Given the description of an element on the screen output the (x, y) to click on. 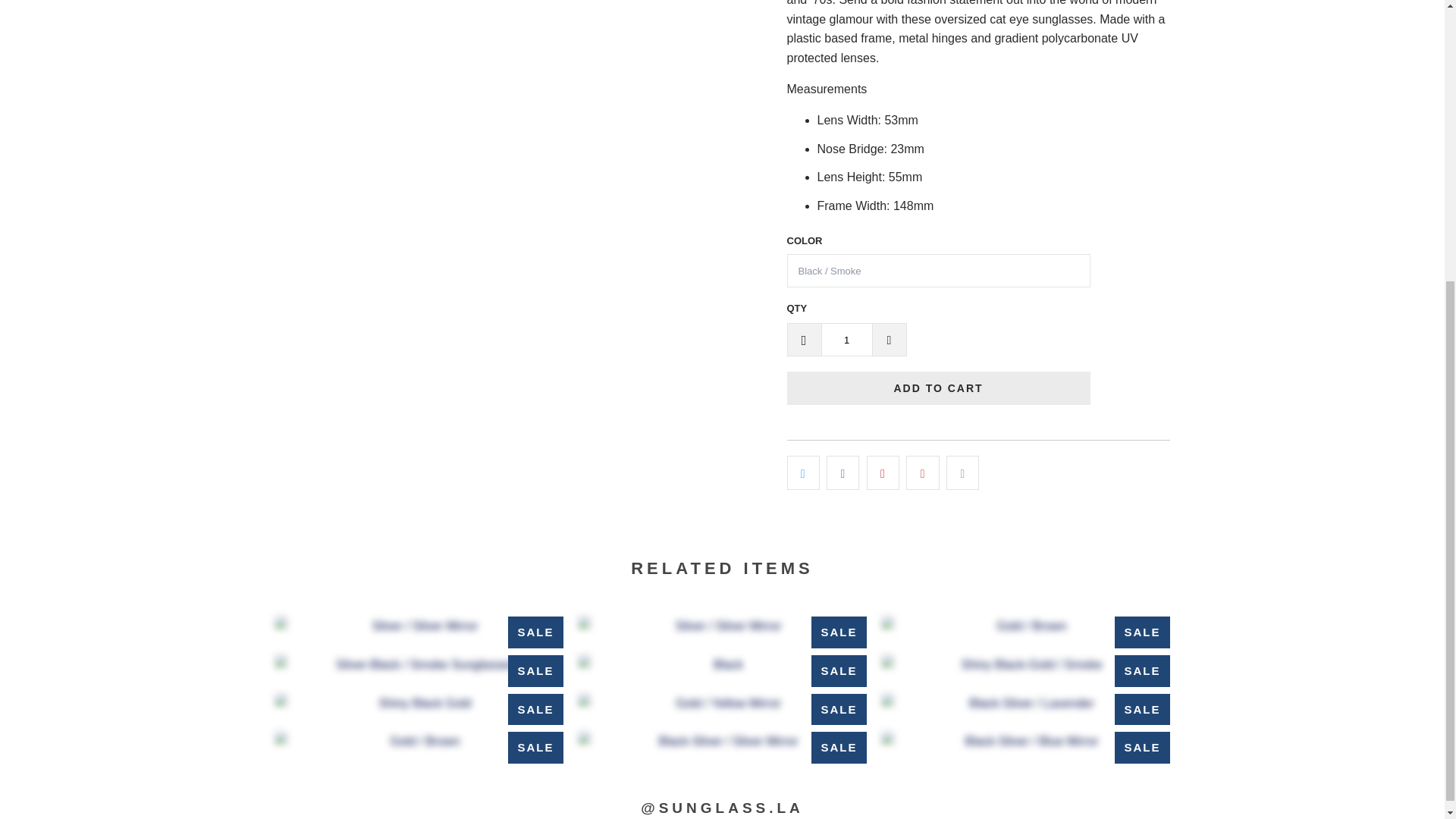
Share this on Pinterest (882, 472)
1 (846, 339)
Share this on Facebook (843, 472)
Share this on Twitter (803, 472)
Email this to a friend (962, 472)
